Given the description of an element on the screen output the (x, y) to click on. 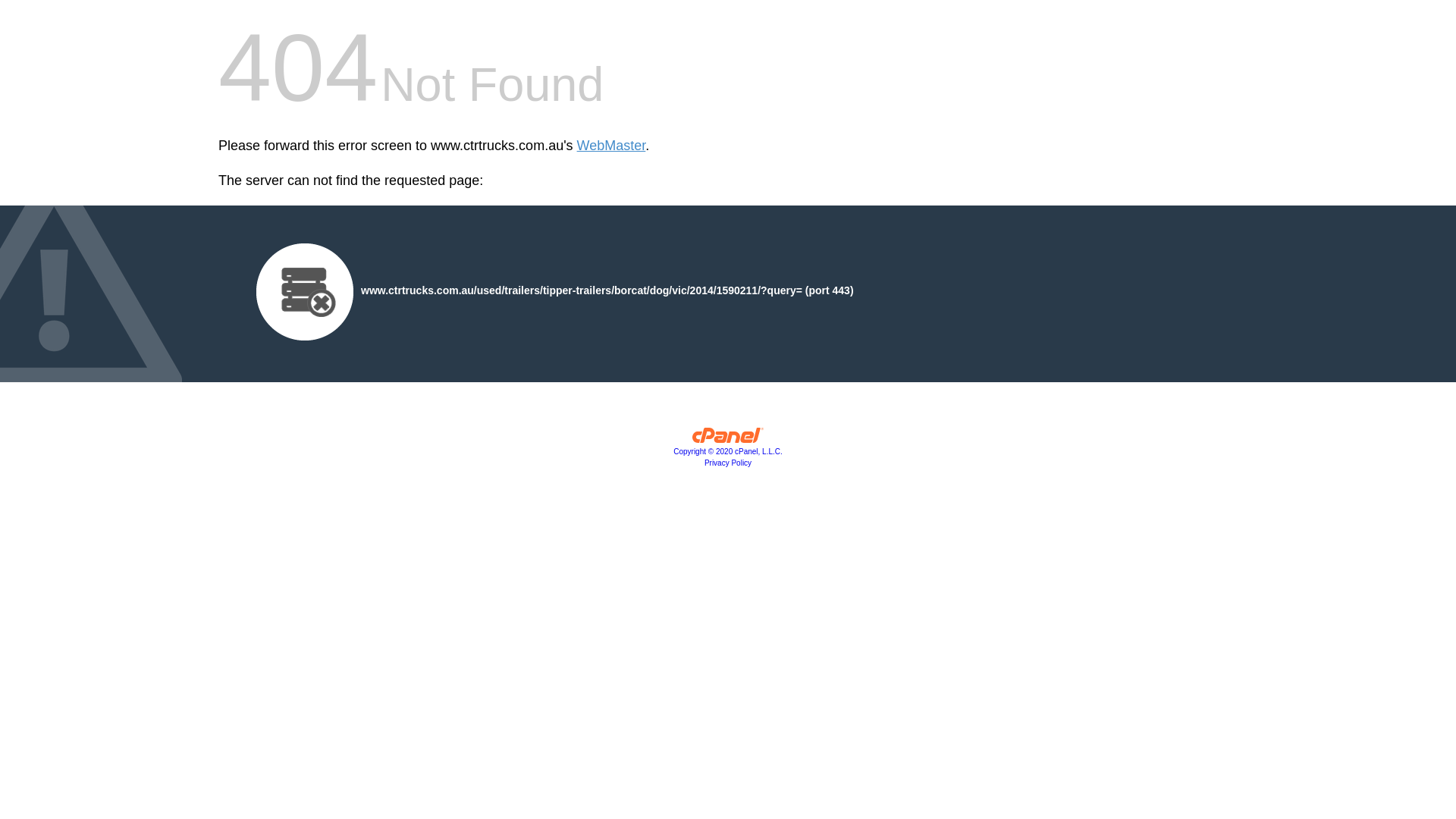
cPanel, Inc. Element type: hover (728, 439)
Privacy Policy Element type: text (727, 462)
WebMaster Element type: text (611, 145)
